Given the description of an element on the screen output the (x, y) to click on. 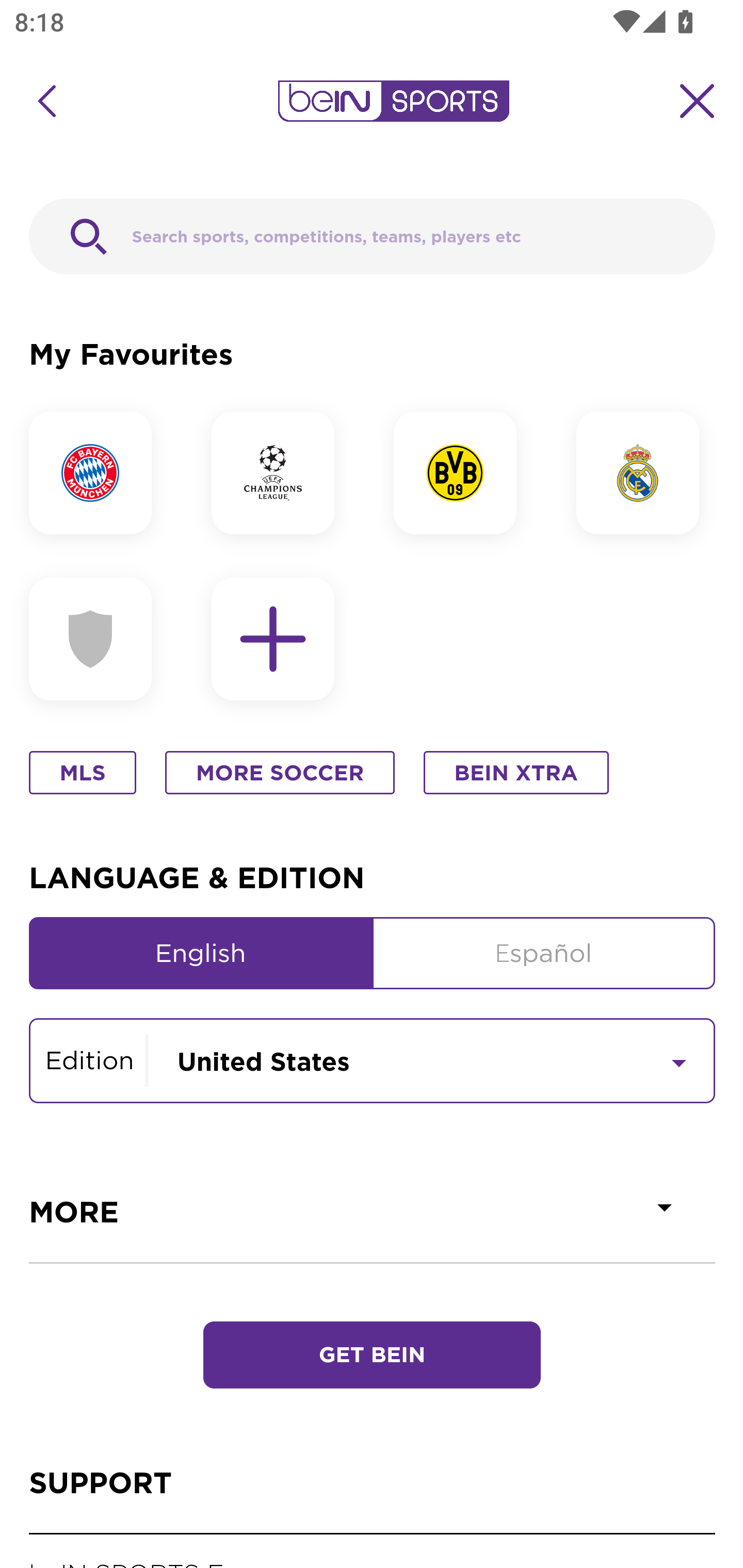
en-us?platform=mobile_android bein logo (392, 101)
icon back (46, 101)
Close Menu Icon (697, 101)
MLS (82, 773)
MORE SOCCER (279, 773)
BEIN XTRA (516, 773)
English (200, 953)
Еspañol (544, 953)
United States (430, 1058)
MORE (372, 1211)
GET BEIN (371, 1355)
Home Home Icon Home (61, 1503)
